Given the description of an element on the screen output the (x, y) to click on. 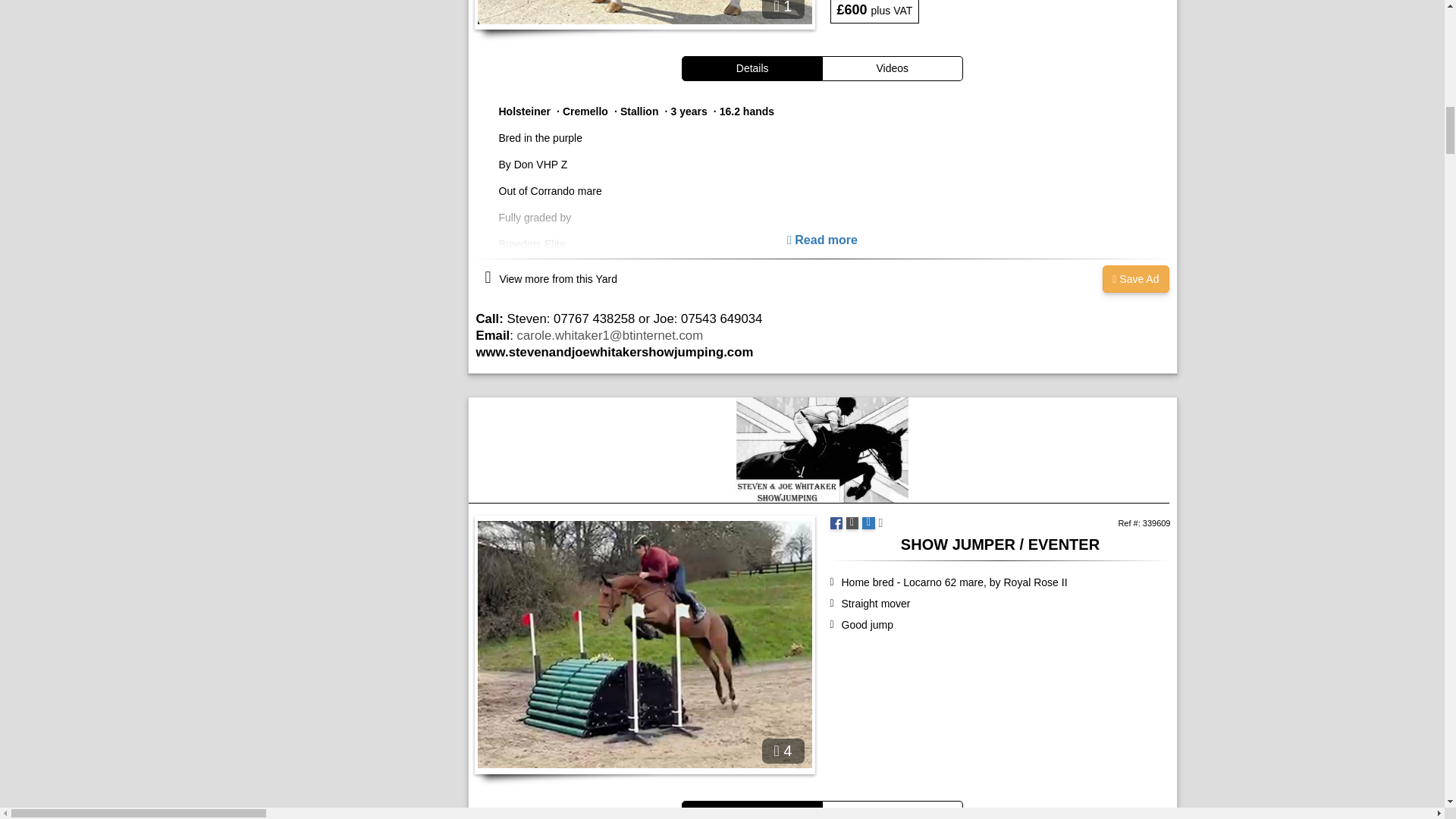
Share on Facebook (835, 522)
Email a Friend (868, 522)
Print (852, 522)
